Given the description of an element on the screen output the (x, y) to click on. 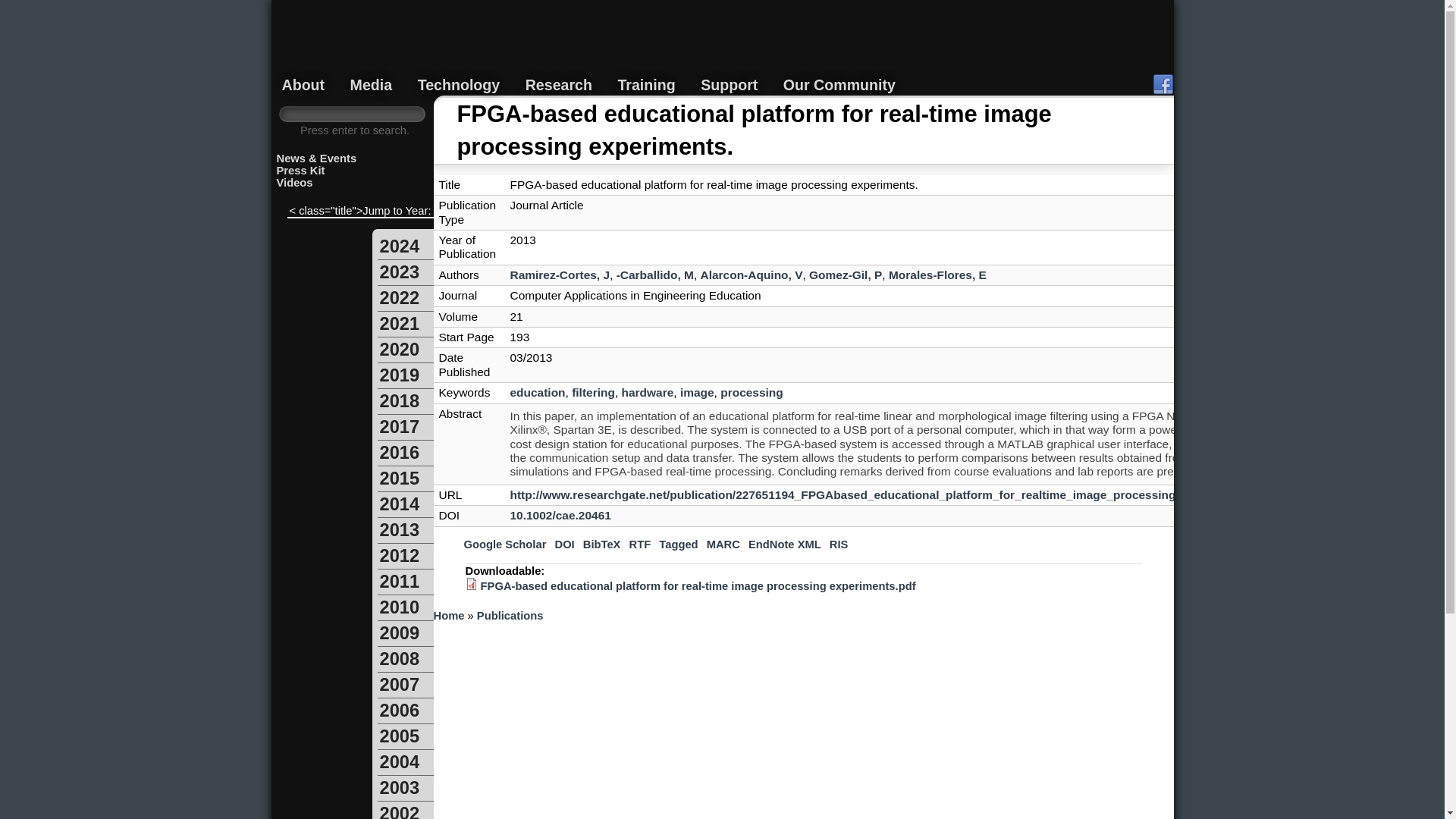
Training (646, 84)
Research (558, 84)
Media (371, 84)
Technology (458, 84)
About (303, 84)
Home (722, 49)
